Given the description of an element on the screen output the (x, y) to click on. 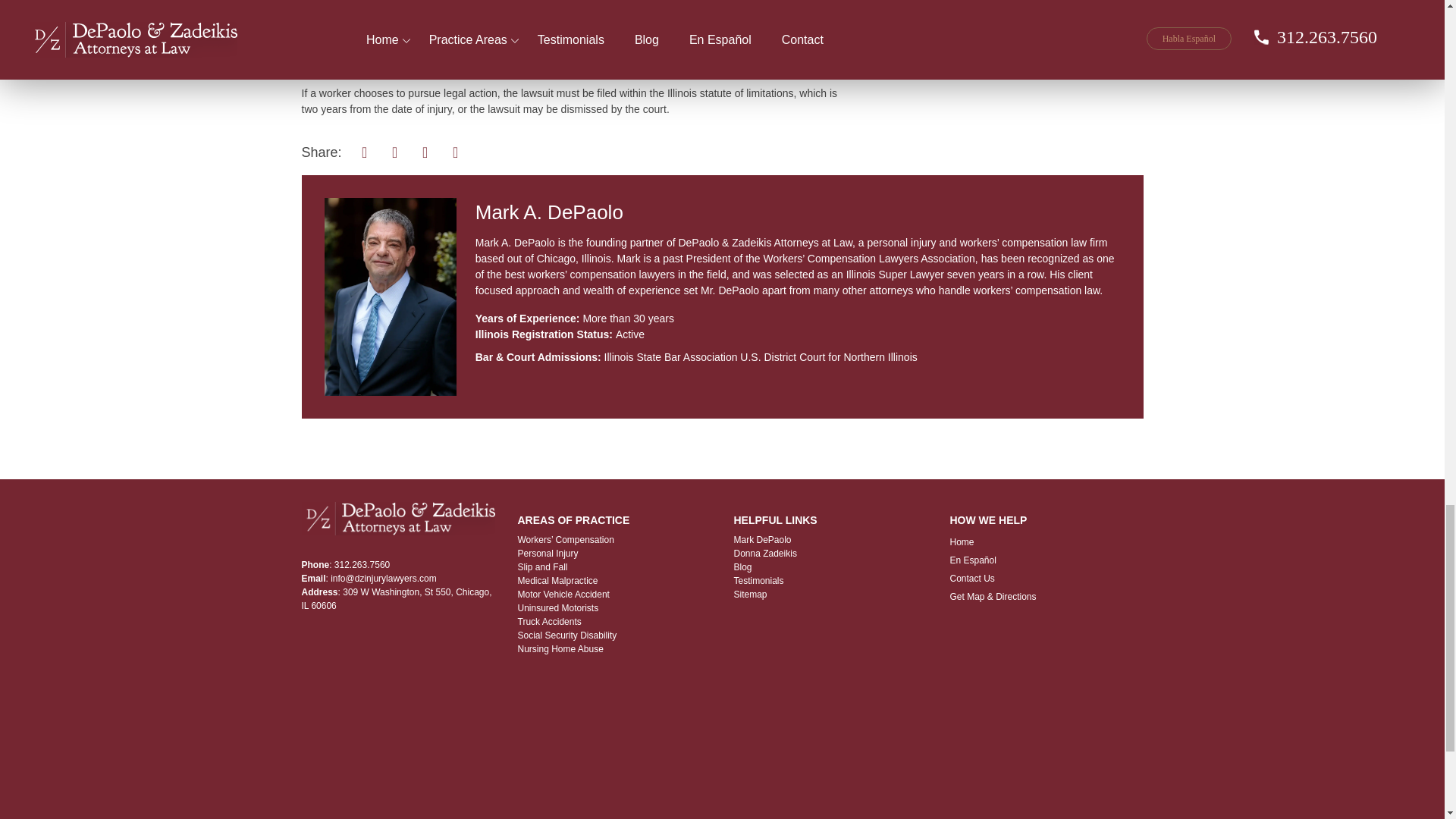
Twitter (395, 150)
Linked In (455, 150)
Facebook (364, 150)
Google Plus (425, 150)
